Given the description of an element on the screen output the (x, y) to click on. 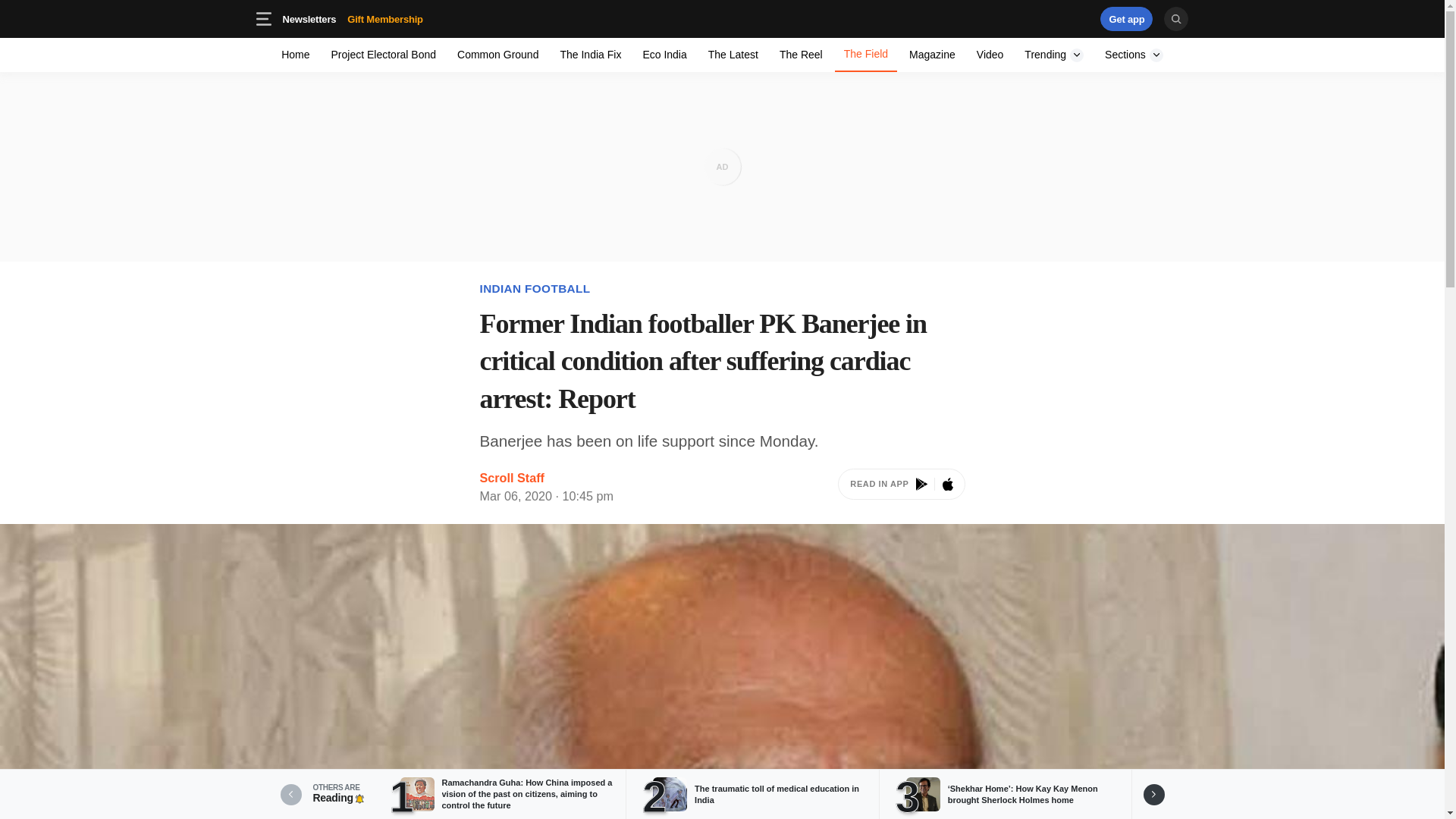
Magazine (931, 54)
Project Electoral Bond (383, 54)
READ IN APP (900, 487)
Video (409, 18)
The India Fix (990, 54)
Sections (590, 54)
Common Ground (1134, 54)
Trending (497, 54)
